Given the description of an element on the screen output the (x, y) to click on. 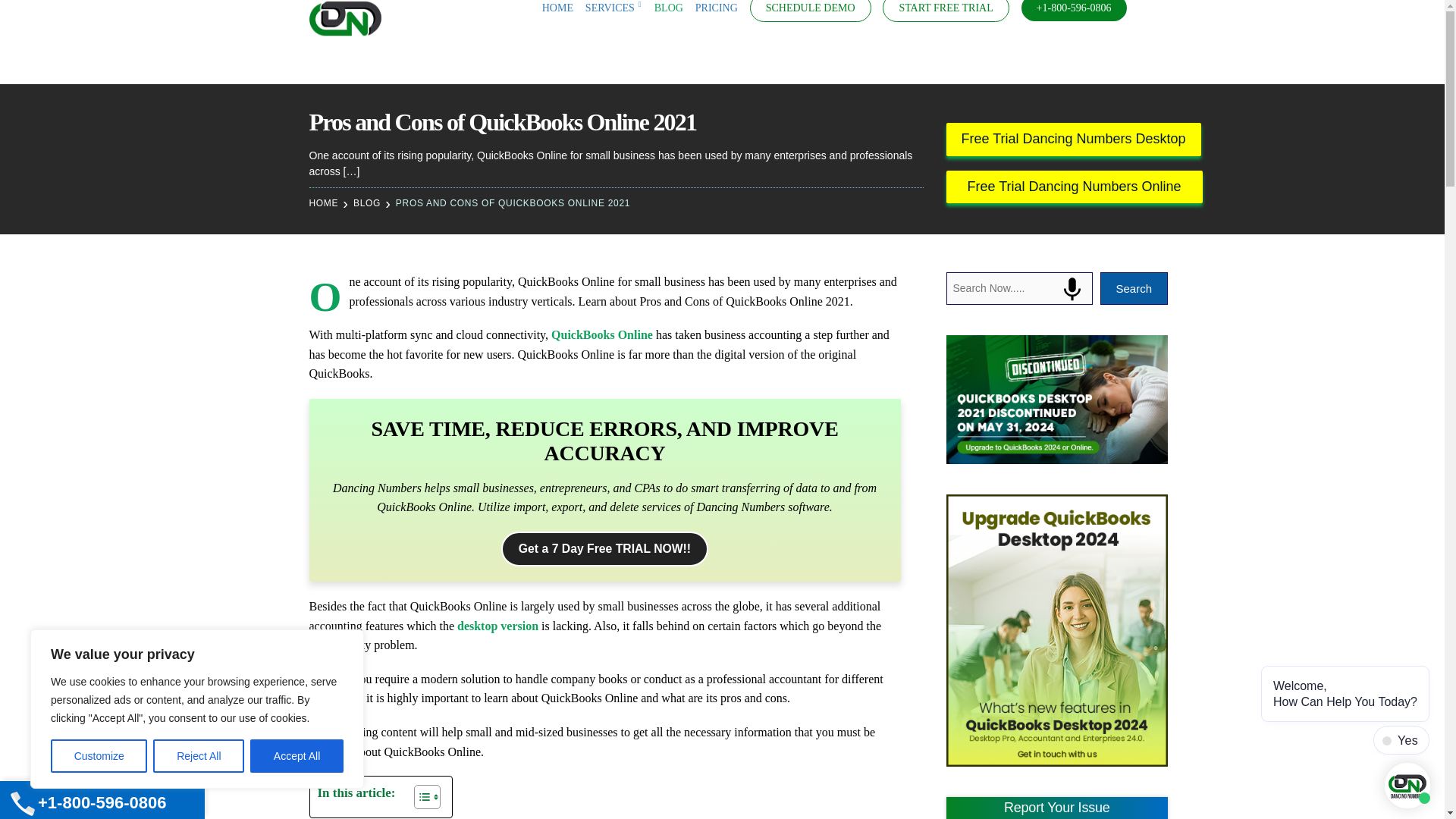
QuickBooks Desktop 2021 Service Discontinuation Policy (1057, 399)
PRICING (716, 8)
START FREE TRIAL (945, 8)
Accept All (296, 756)
BLOG (667, 8)
SCHEDULE DEMO (809, 8)
Search (18, 18)
Reject All (198, 756)
SERVICES (613, 8)
HOME (557, 8)
Customize (98, 756)
